Given the description of an element on the screen output the (x, y) to click on. 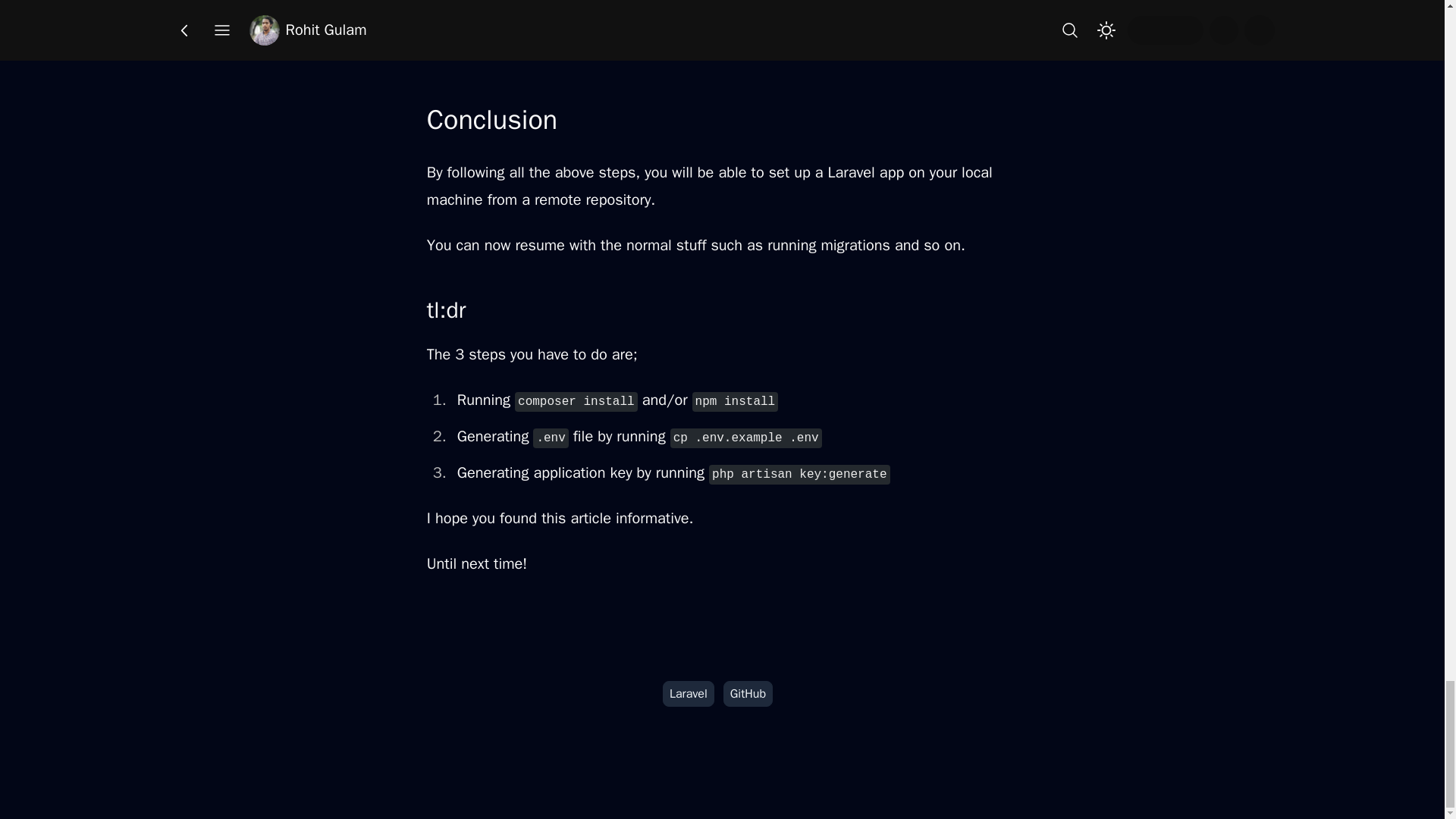
GitHub (748, 693)
Laravel (688, 693)
